Given the description of an element on the screen output the (x, y) to click on. 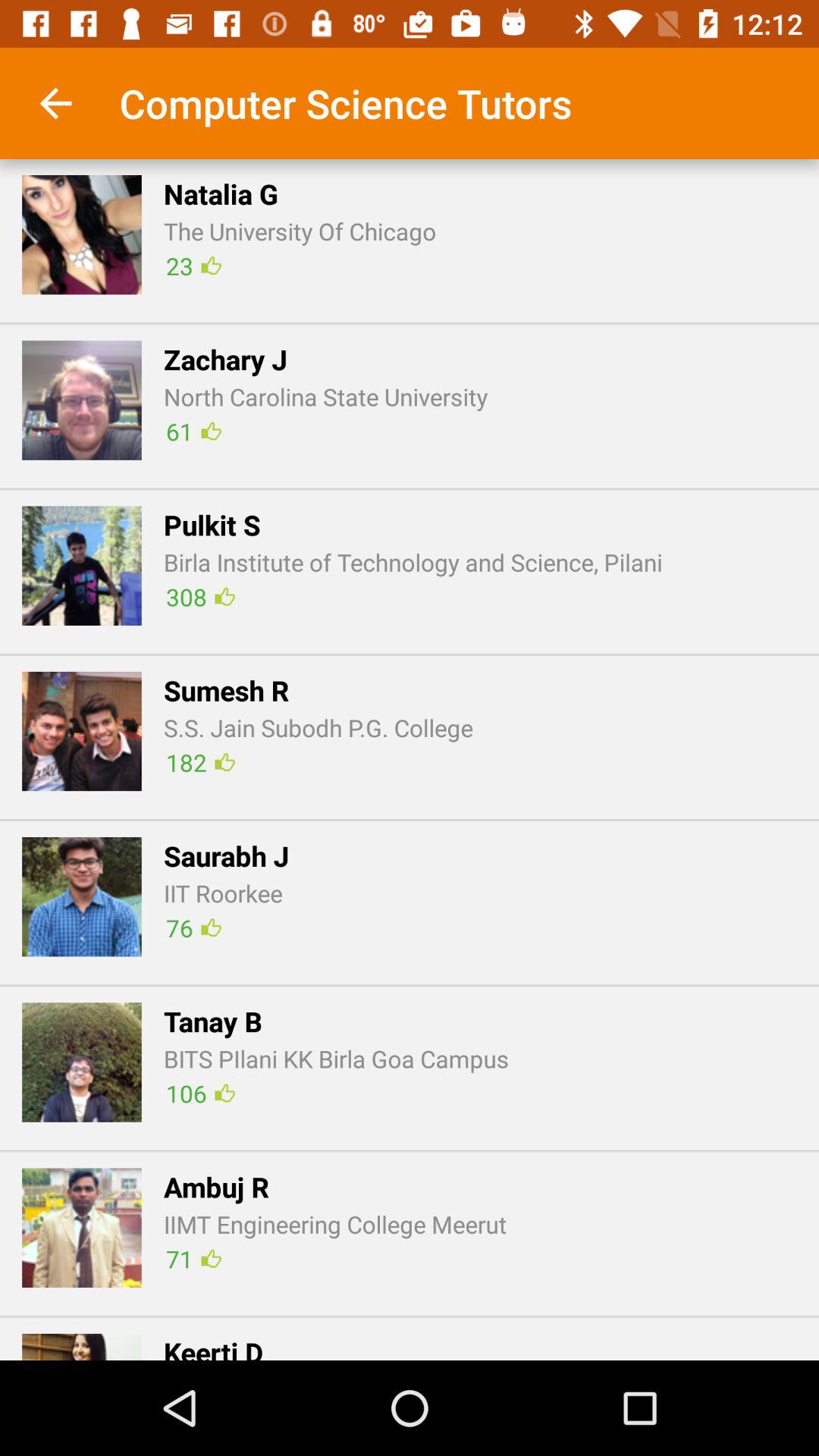
turn off the item below the s s jain icon (200, 762)
